Given the description of an element on the screen output the (x, y) to click on. 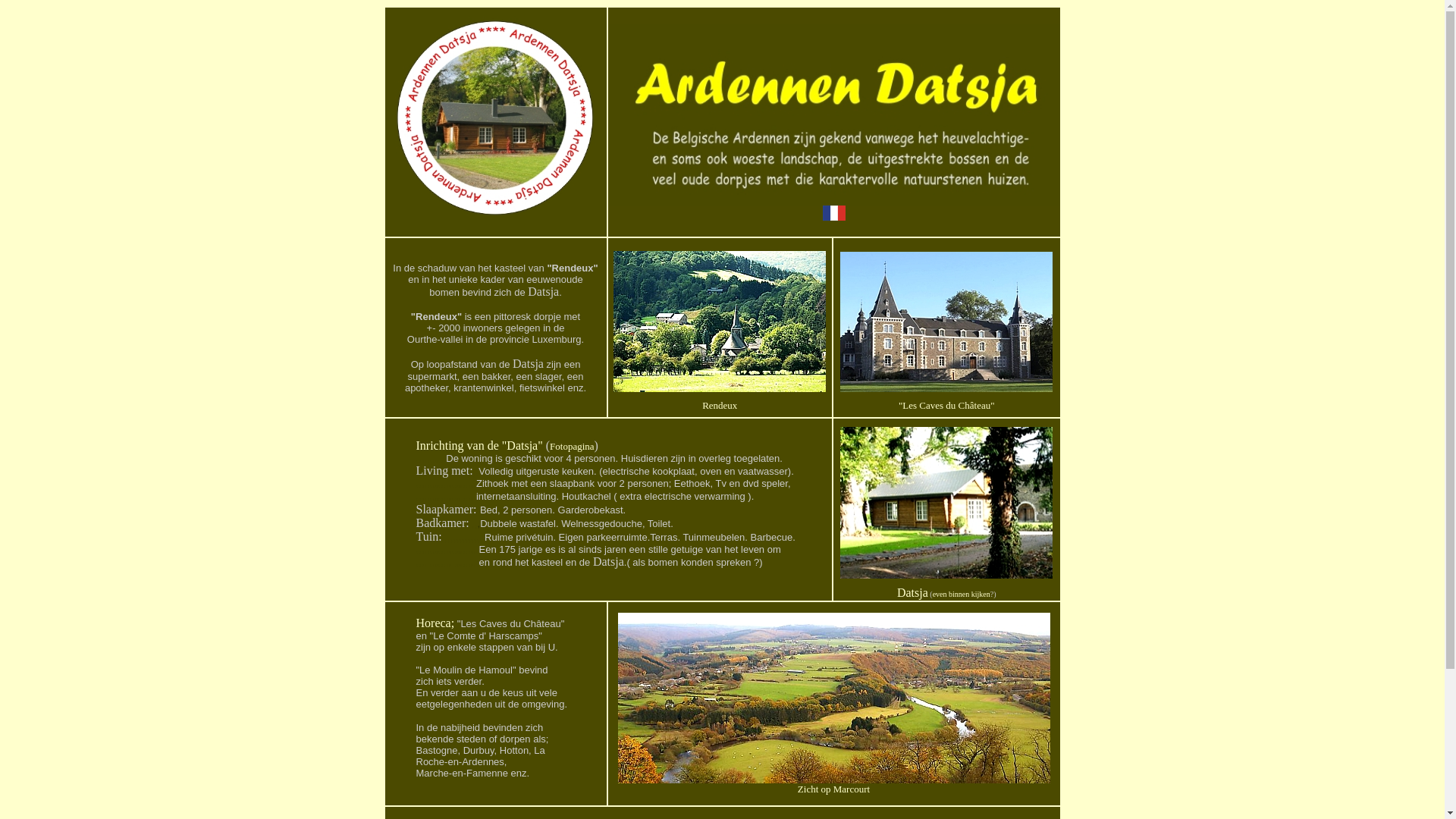
even binnen kijken Element type: text (961, 593)
Fotopagina Element type: text (571, 444)
